Given the description of an element on the screen output the (x, y) to click on. 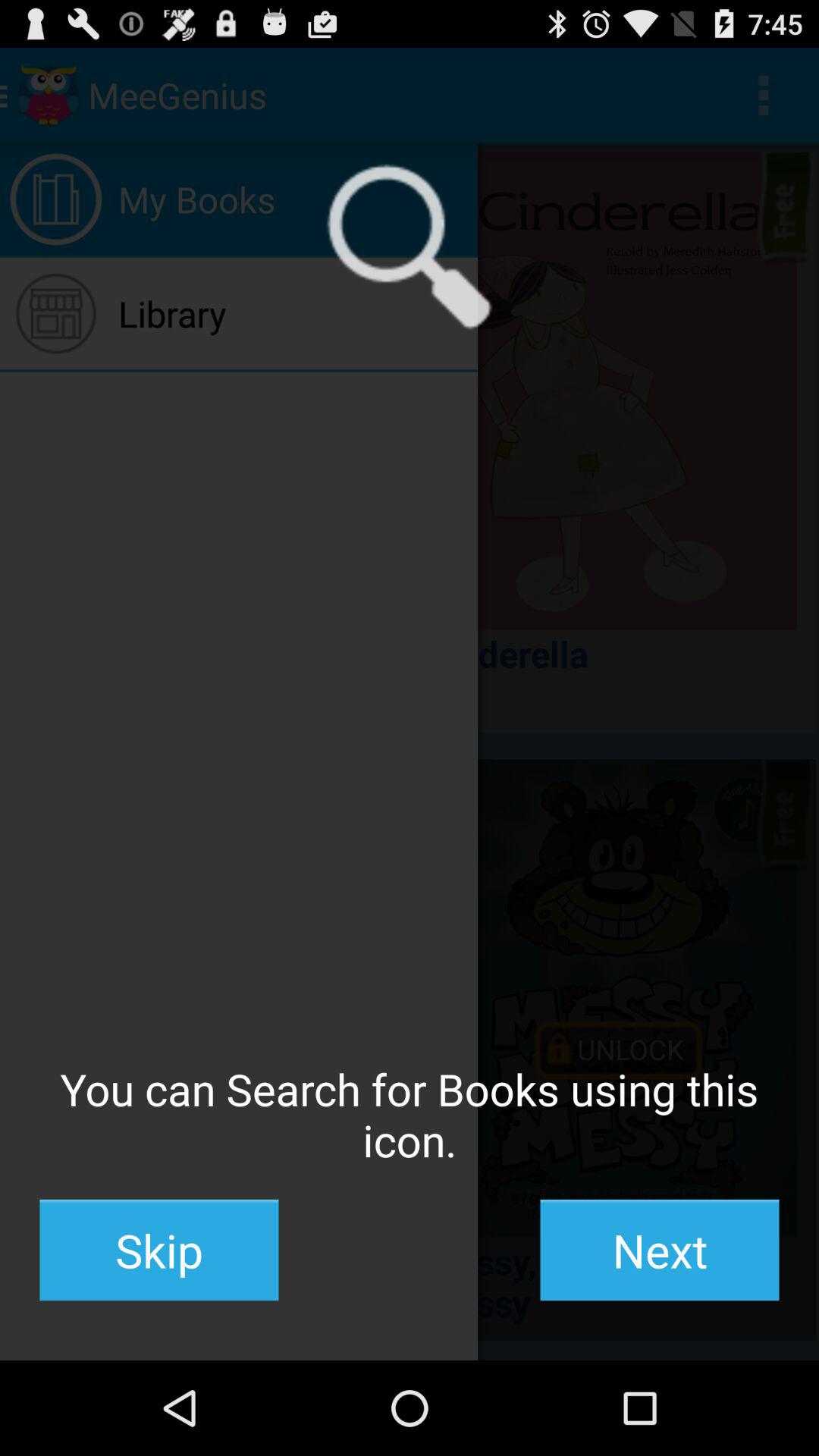
swipe until the next (659, 1249)
